Given the description of an element on the screen output the (x, y) to click on. 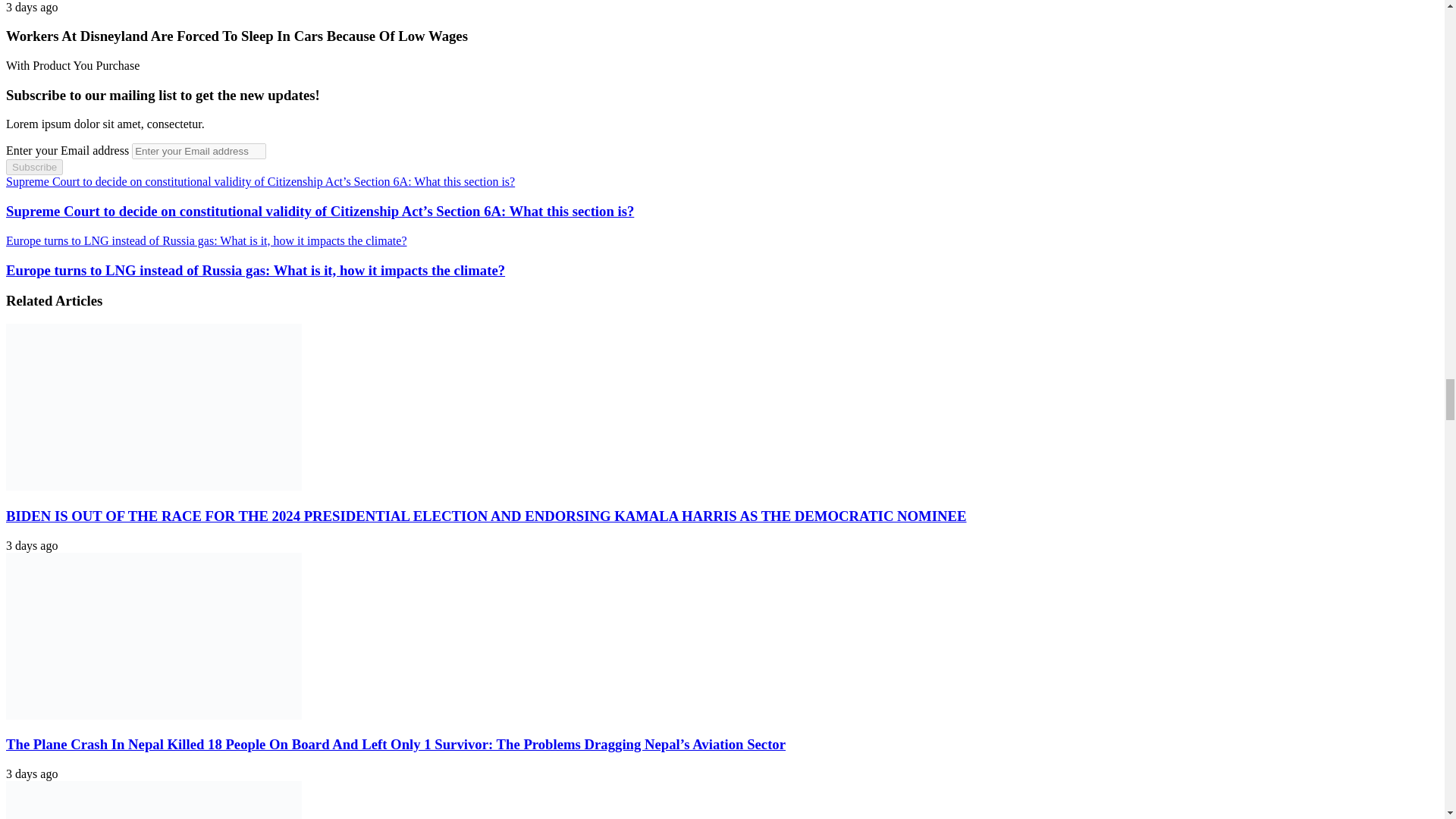
Subscribe (33, 166)
